Given the description of an element on the screen output the (x, y) to click on. 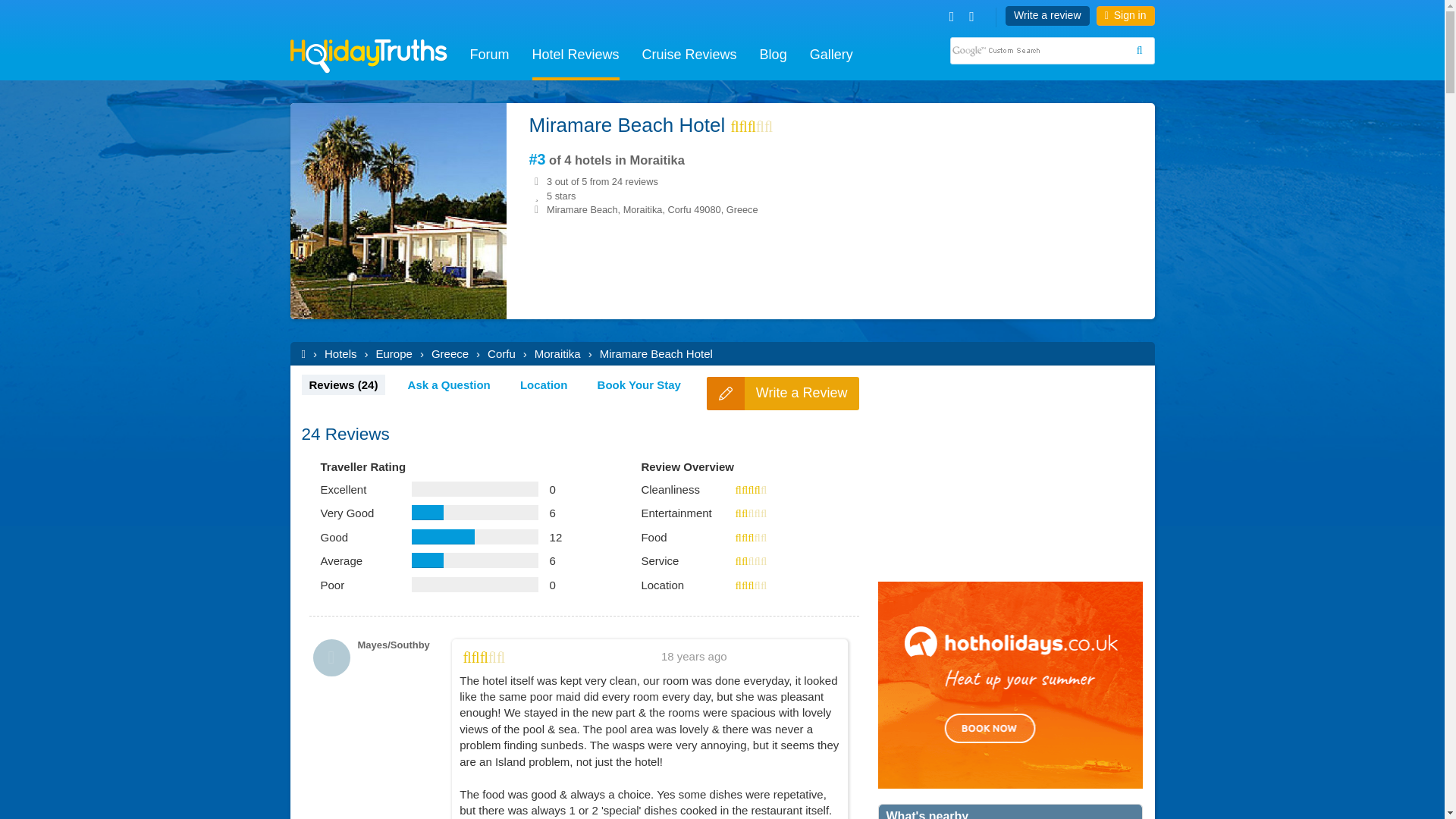
Hotels (330, 353)
Europe (384, 353)
Write a review (1047, 15)
Cruise Reviews (689, 55)
Book Your Stay (638, 384)
Corfu (491, 353)
Gallery (831, 55)
Greece (440, 353)
Hotel Reviews (576, 55)
Average (751, 560)
